Given the description of an element on the screen output the (x, y) to click on. 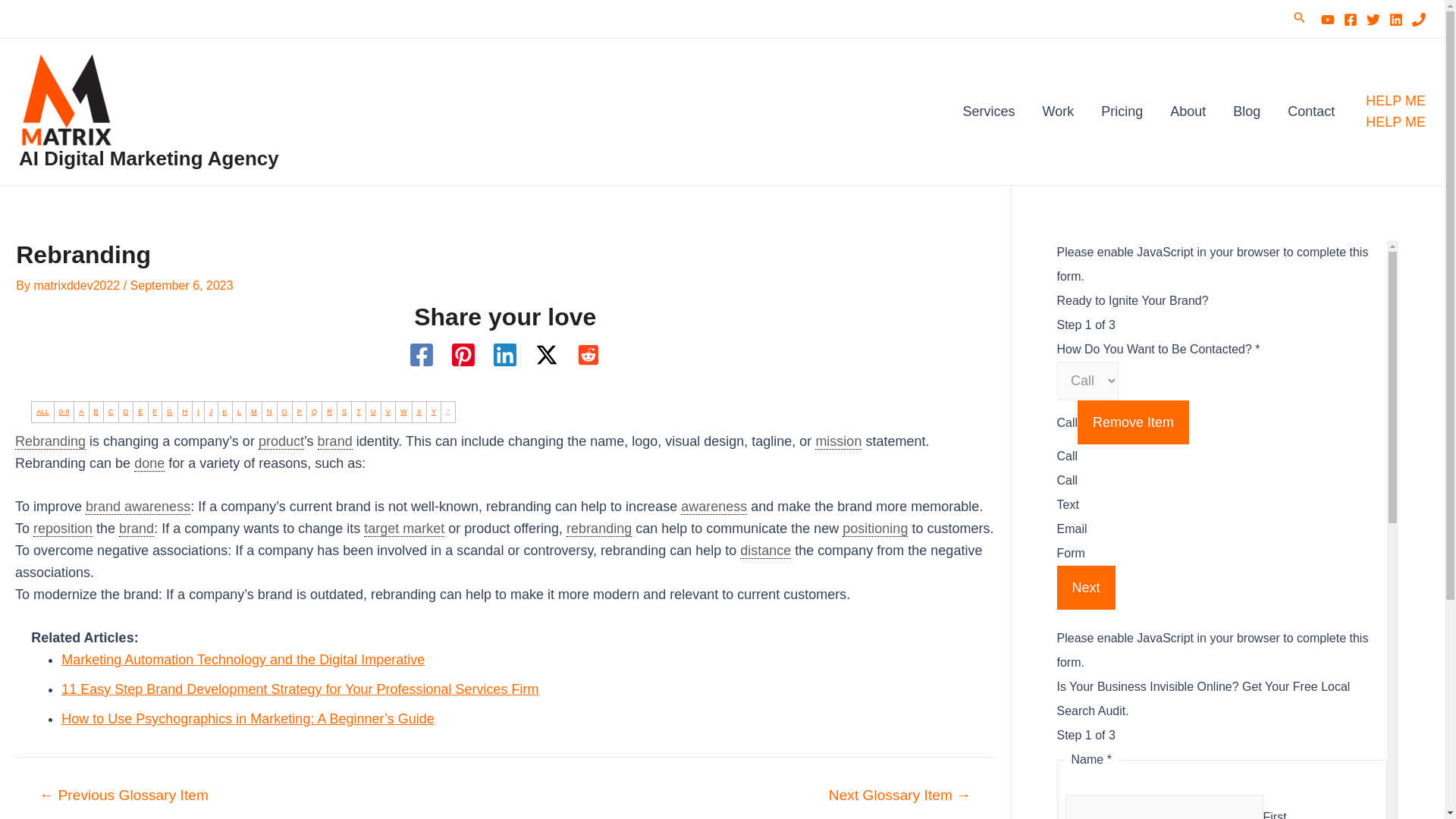
About (1188, 111)
Pricing (1121, 111)
AI Digital Marketing Agency (148, 158)
Realization Gap (123, 794)
Contact (1311, 111)
Blog (1247, 111)
Services (988, 111)
Work (1057, 111)
HELP ME (1395, 121)
Render (899, 794)
View all posts by matrixddev2022 (77, 285)
HELP ME (1395, 110)
